Given the description of an element on the screen output the (x, y) to click on. 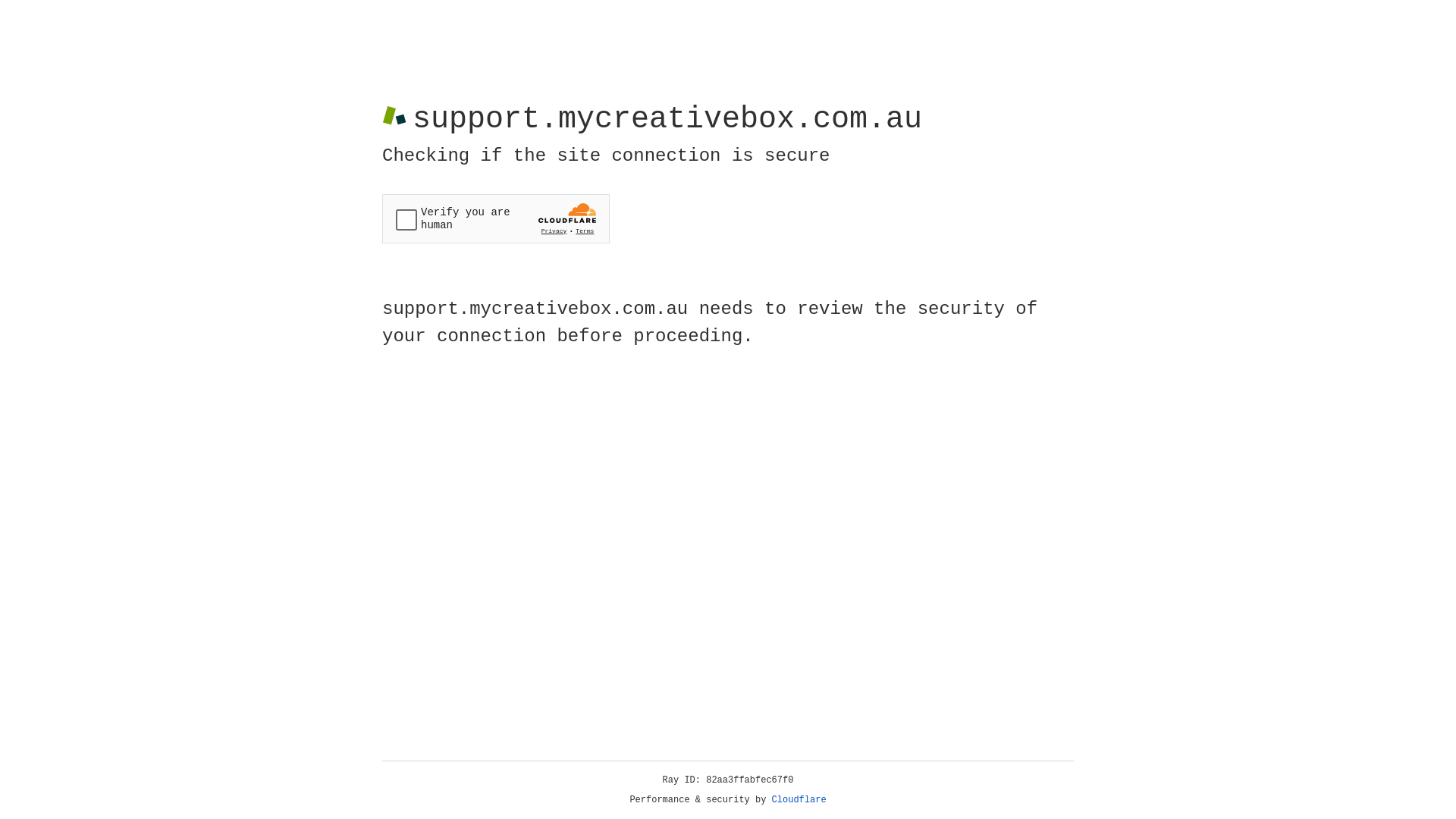
Cloudflare Element type: text (798, 799)
Widget containing a Cloudflare security challenge Element type: hover (495, 218)
